Given the description of an element on the screen output the (x, y) to click on. 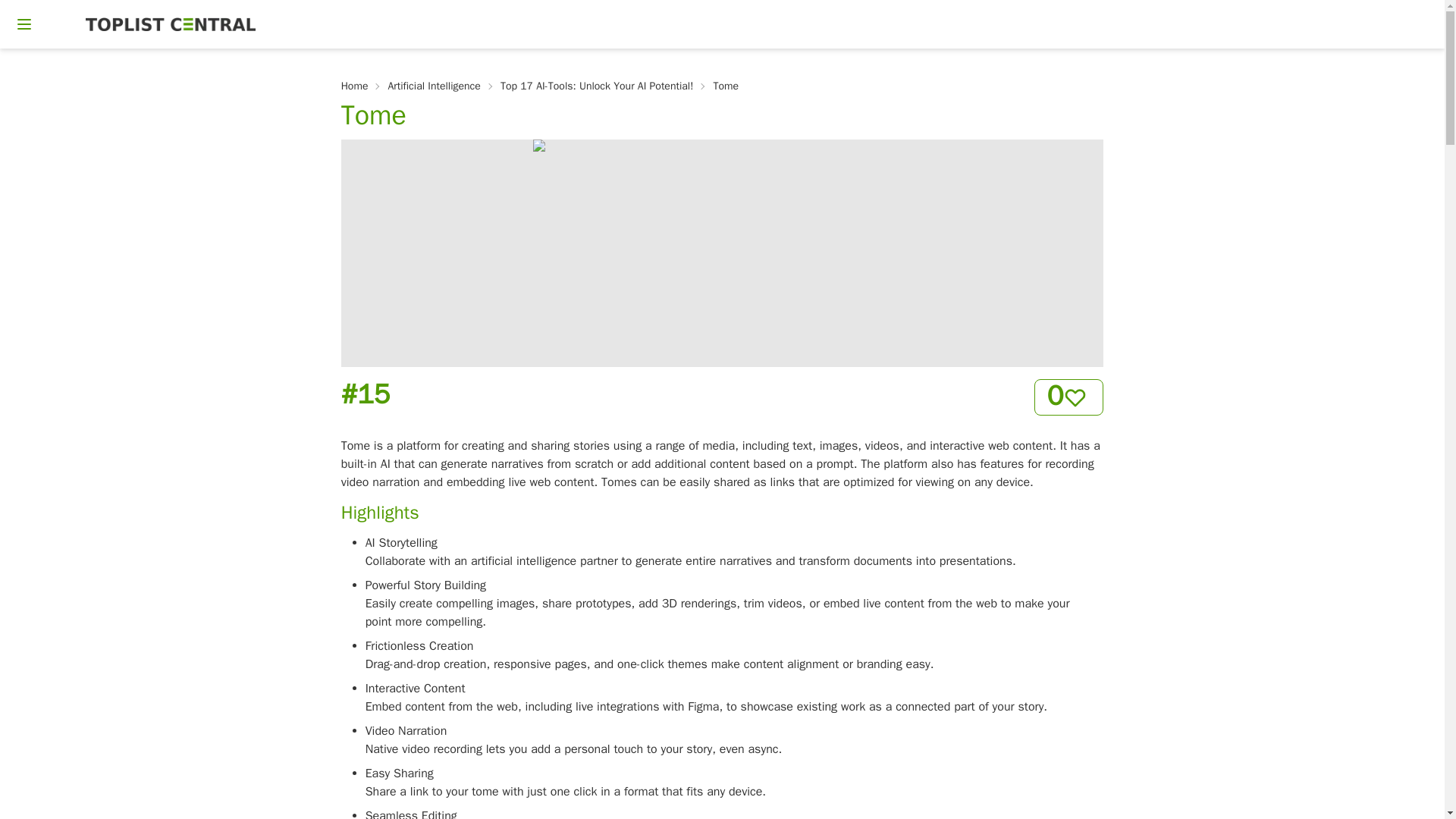
Easy Sharing (399, 773)
Artificial Intelligence (433, 86)
Home (354, 86)
Video Narration (405, 730)
Top 17 AI-Tools: Unlock Your AI Potential! (597, 86)
0 (1068, 397)
Powerful Story Building (425, 585)
Frictionless Creation (419, 645)
